Given the description of an element on the screen output the (x, y) to click on. 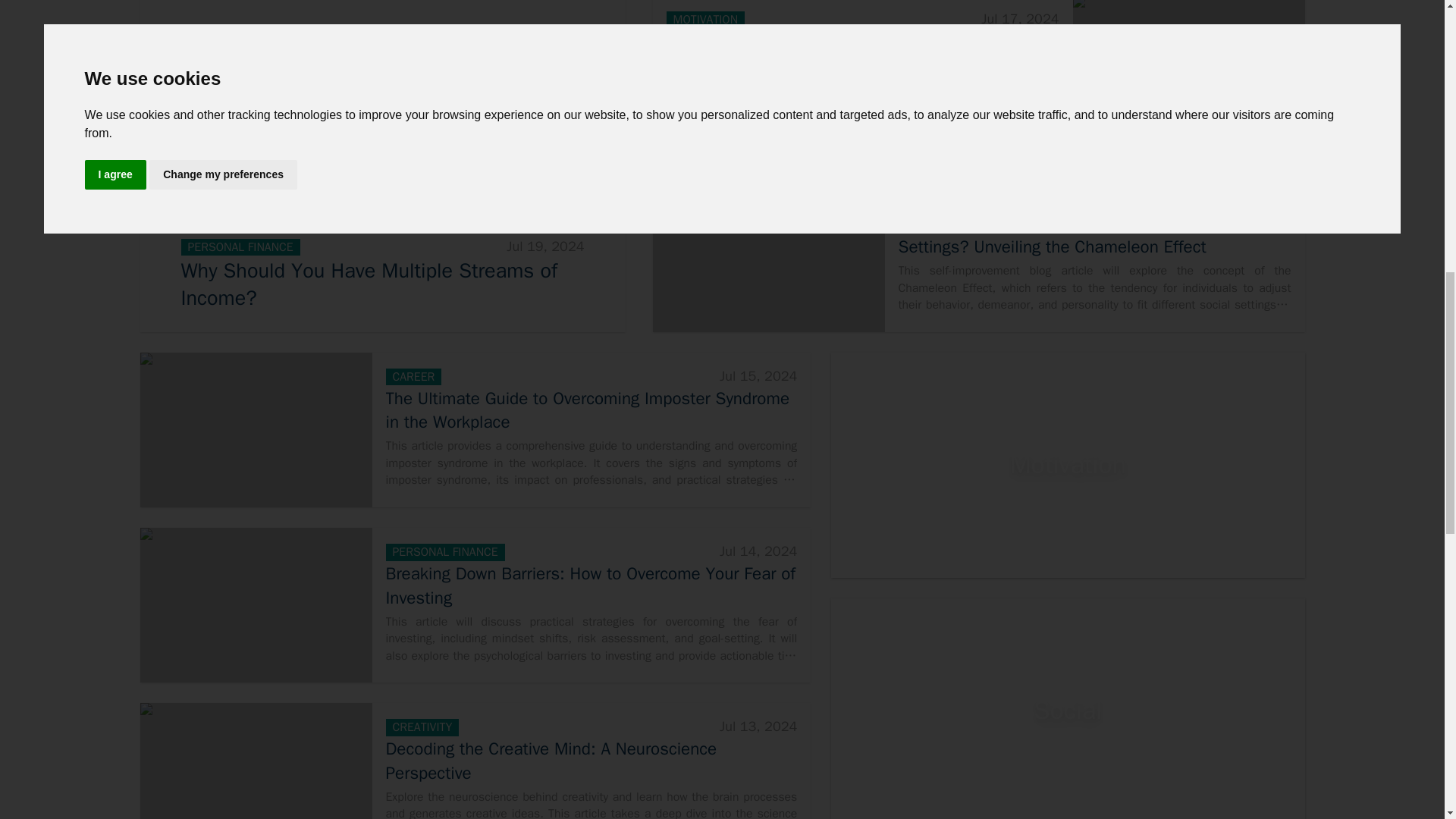
Social (1067, 708)
Motivation (1067, 465)
